Given the description of an element on the screen output the (x, y) to click on. 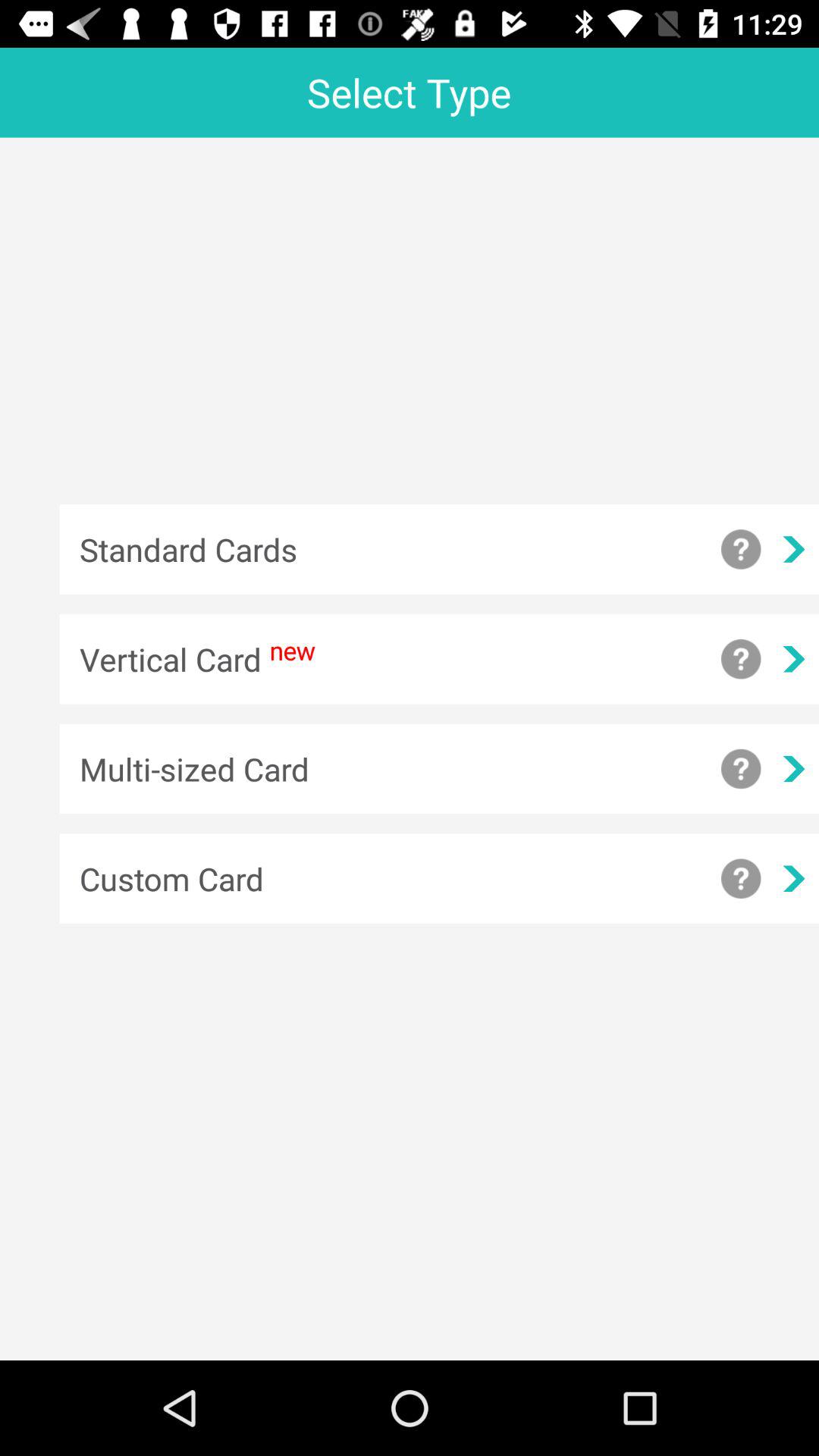
show questions (740, 659)
